Given the description of an element on the screen output the (x, y) to click on. 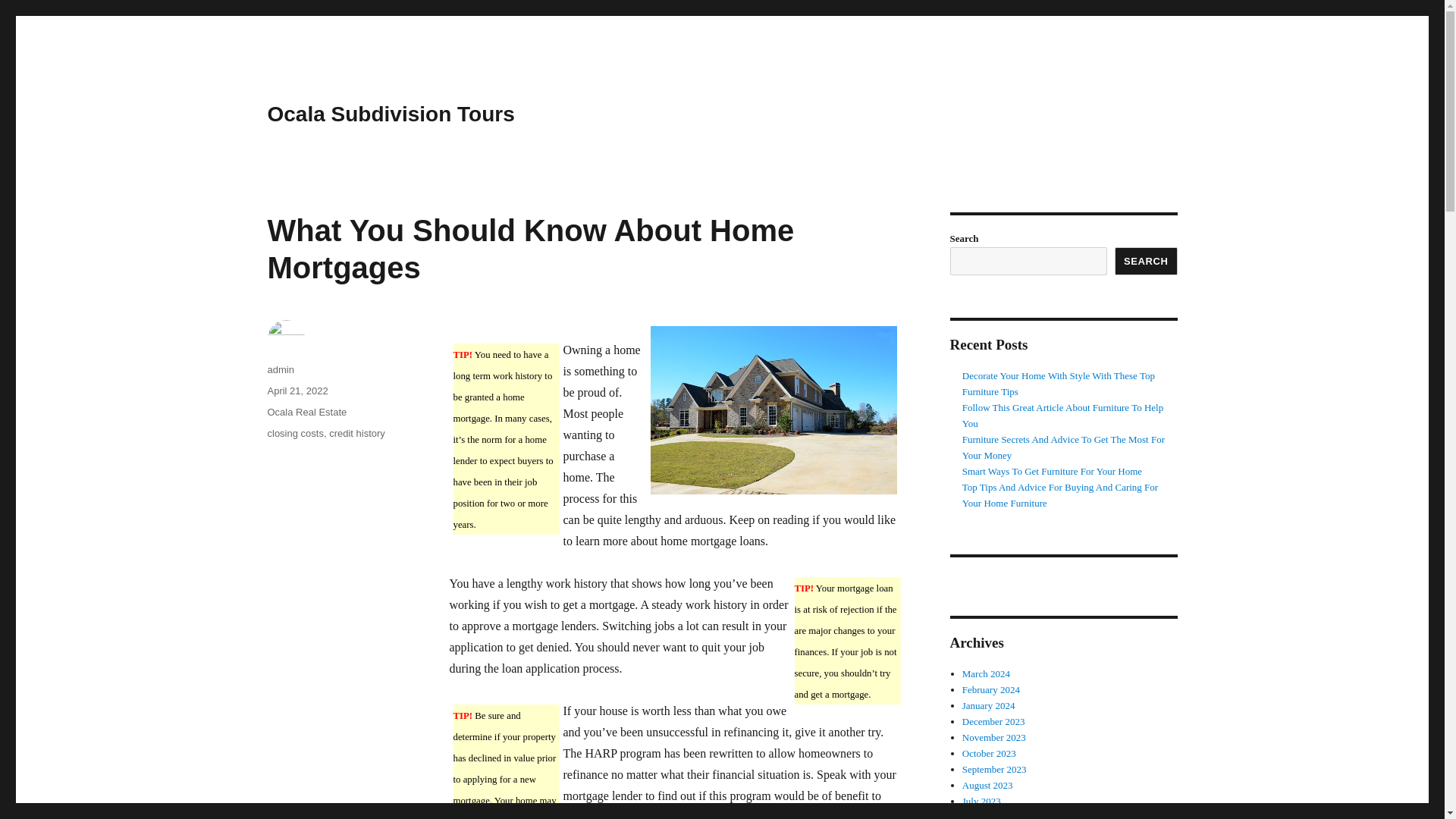
June 2023 (982, 815)
February 2024 (991, 689)
Smart Ways To Get Furniture For Your Home (1051, 471)
credit history (357, 432)
December 2023 (993, 721)
SEARCH (1146, 261)
August 2023 (987, 785)
November 2023 (994, 737)
January 2024 (988, 705)
Furniture Secrets And Advice To Get The Most For Your Money (1063, 447)
Follow This Great Article About Furniture To Help You (1062, 415)
September 2023 (994, 768)
March 2024 (986, 673)
October 2023 (989, 753)
closing costs (294, 432)
